Given the description of an element on the screen output the (x, y) to click on. 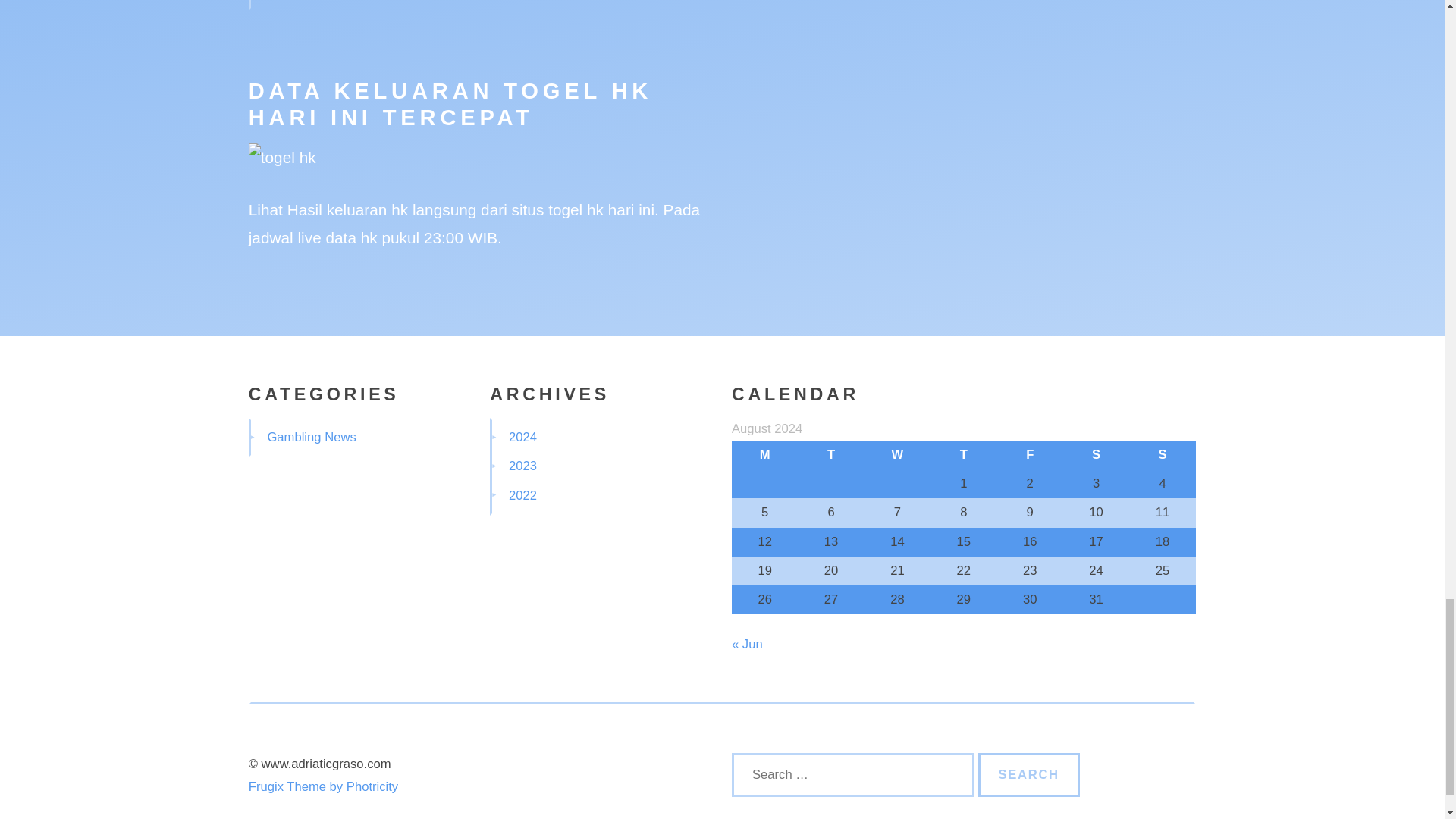
togel hk (281, 157)
Monday (764, 454)
Sunday (1162, 454)
Search (1029, 774)
Friday (1029, 454)
2024 (522, 436)
2023 (522, 465)
Gambling News (310, 436)
Search (1029, 774)
Saturday (1095, 454)
togel hk (576, 209)
Thursday (962, 454)
Tuesday (830, 454)
Wednesday (897, 454)
